Given the description of an element on the screen output the (x, y) to click on. 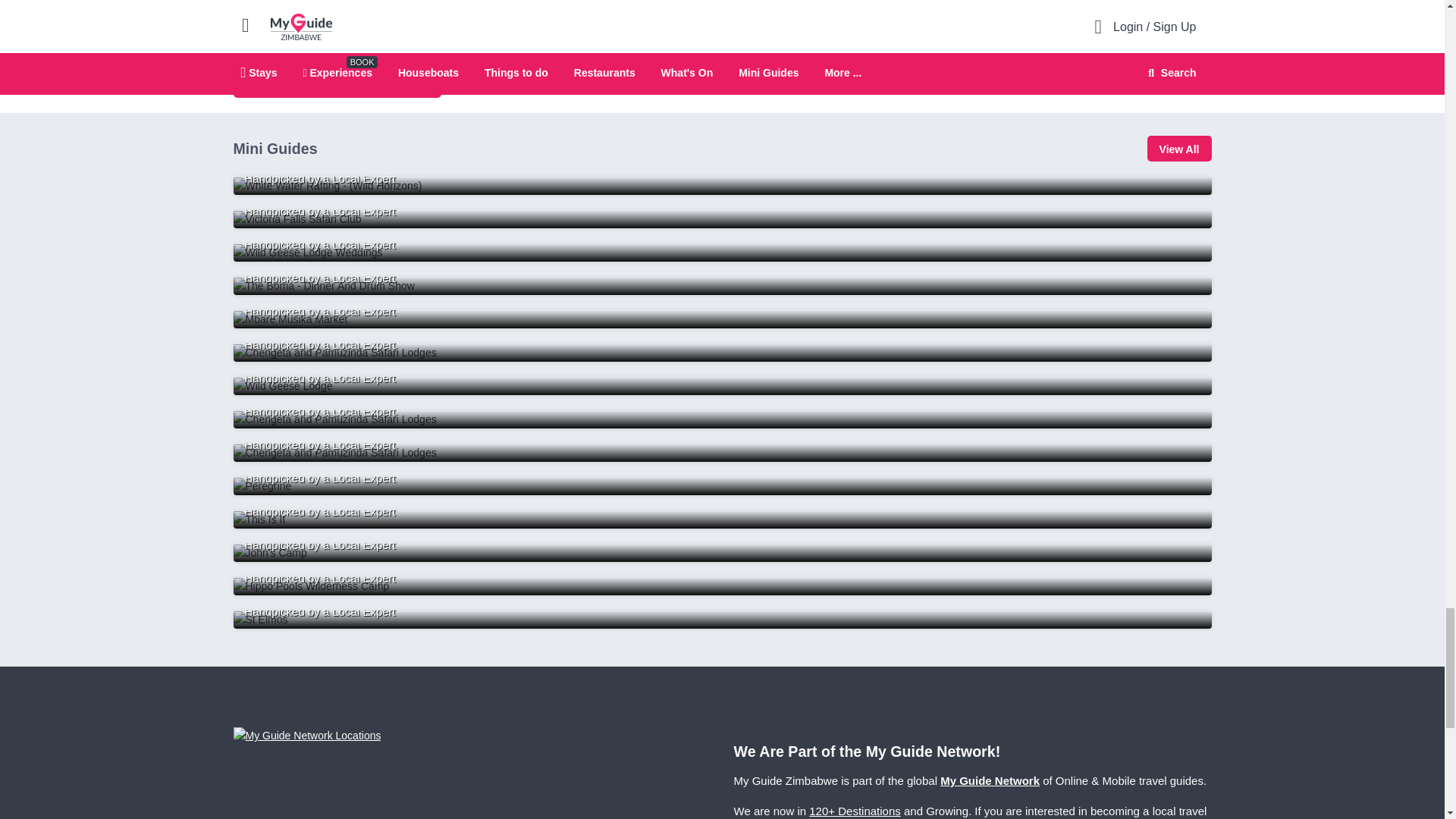
Top 5 Things To Do in Zimbabwe (721, 185)
